Given the description of an element on the screen output the (x, y) to click on. 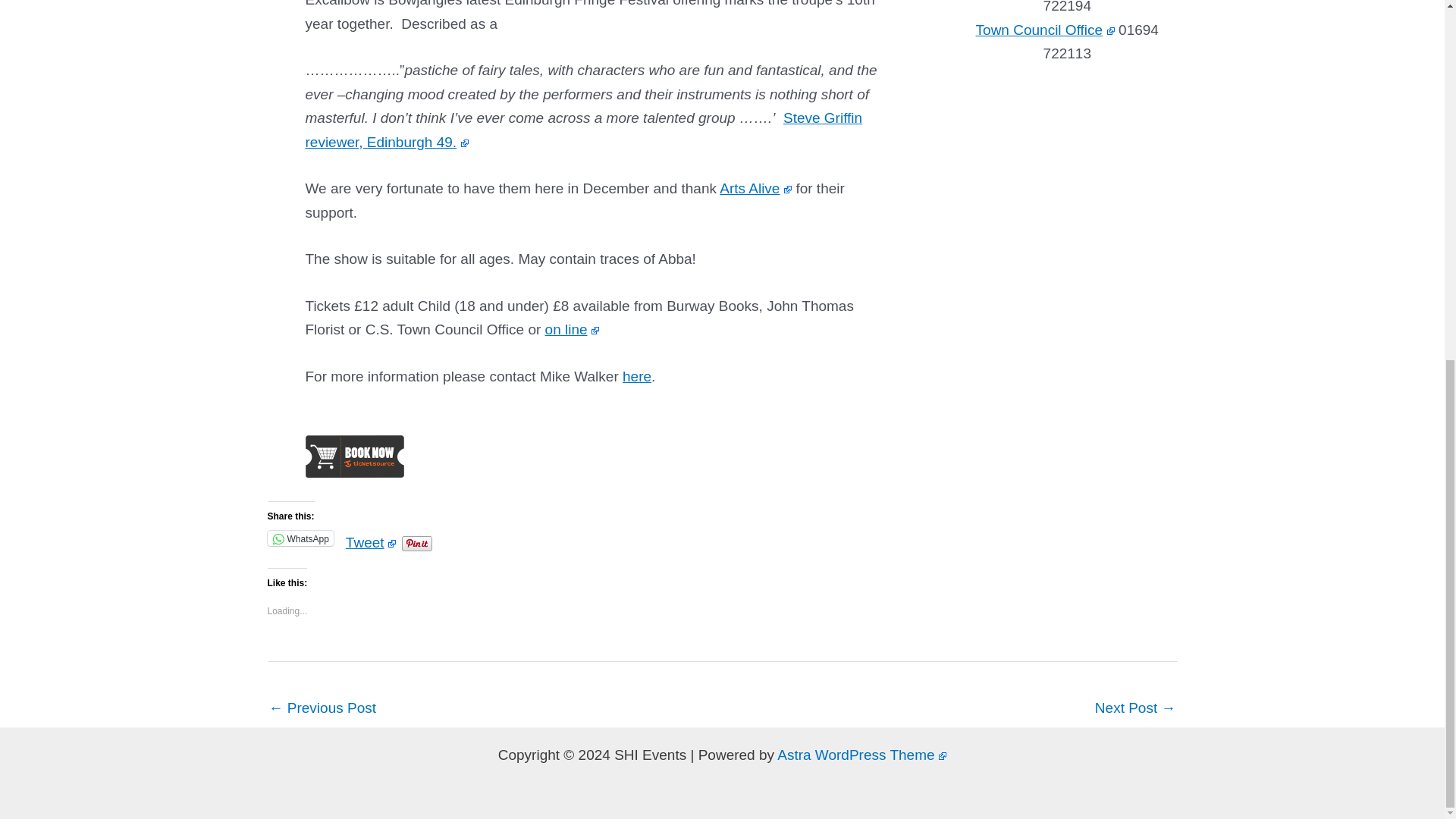
Click to share on WhatsApp (299, 538)
Band On The Edge (1135, 708)
A Celebration of Simon and Garfunkel (321, 708)
